Given the description of an element on the screen output the (x, y) to click on. 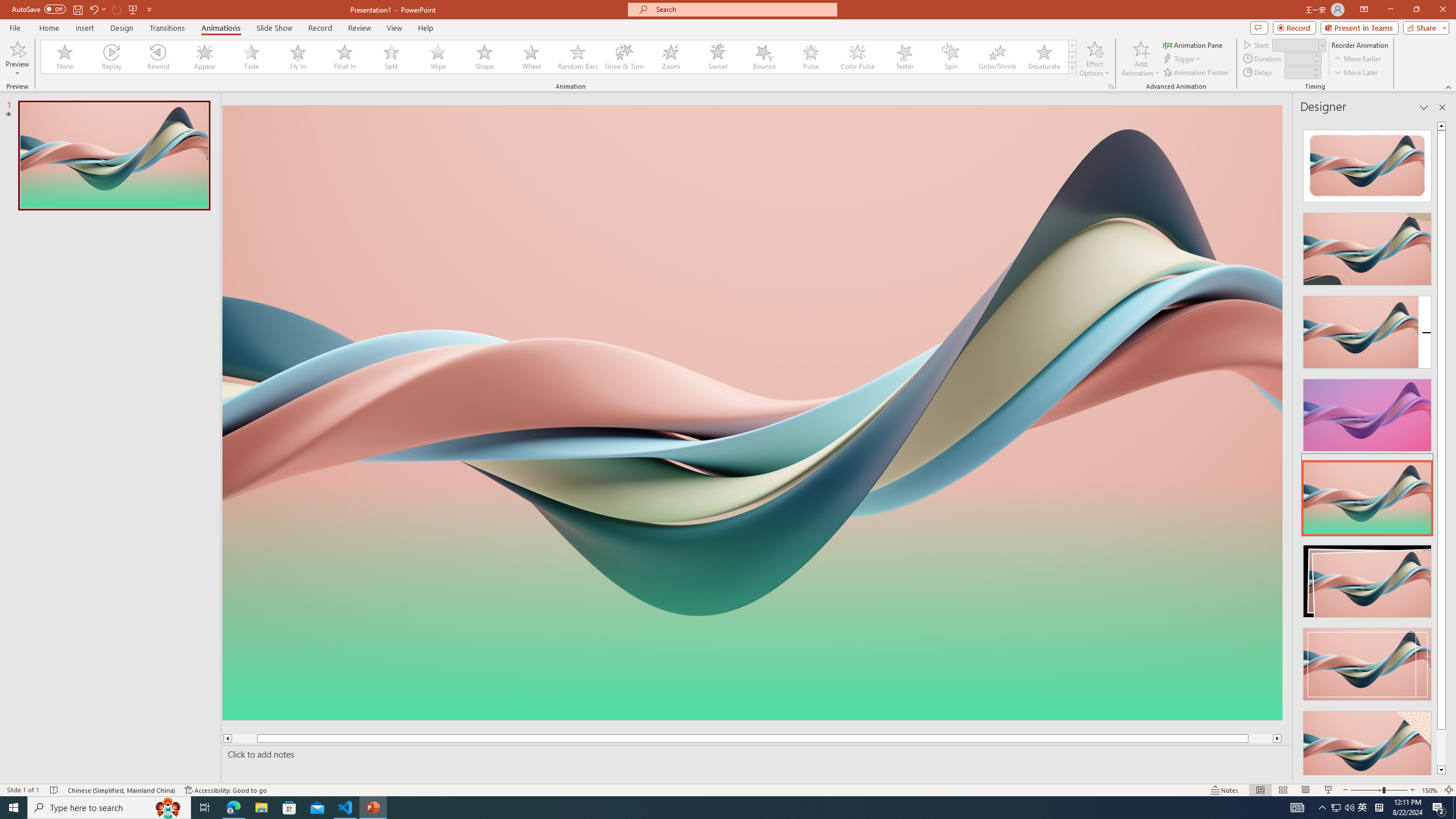
Replay (111, 56)
Slide Show (273, 28)
Row up (1071, 45)
Quick Access Toolbar (82, 9)
Bounce (764, 56)
Row Down (1071, 56)
File Tab (15, 27)
Random Bars (577, 56)
Collapse the Ribbon (1448, 86)
Slide Sorter (1282, 790)
Slide Show (1328, 790)
Notes  (1225, 790)
More Options (17, 68)
Move Earlier (1357, 58)
